Given the description of an element on the screen output the (x, y) to click on. 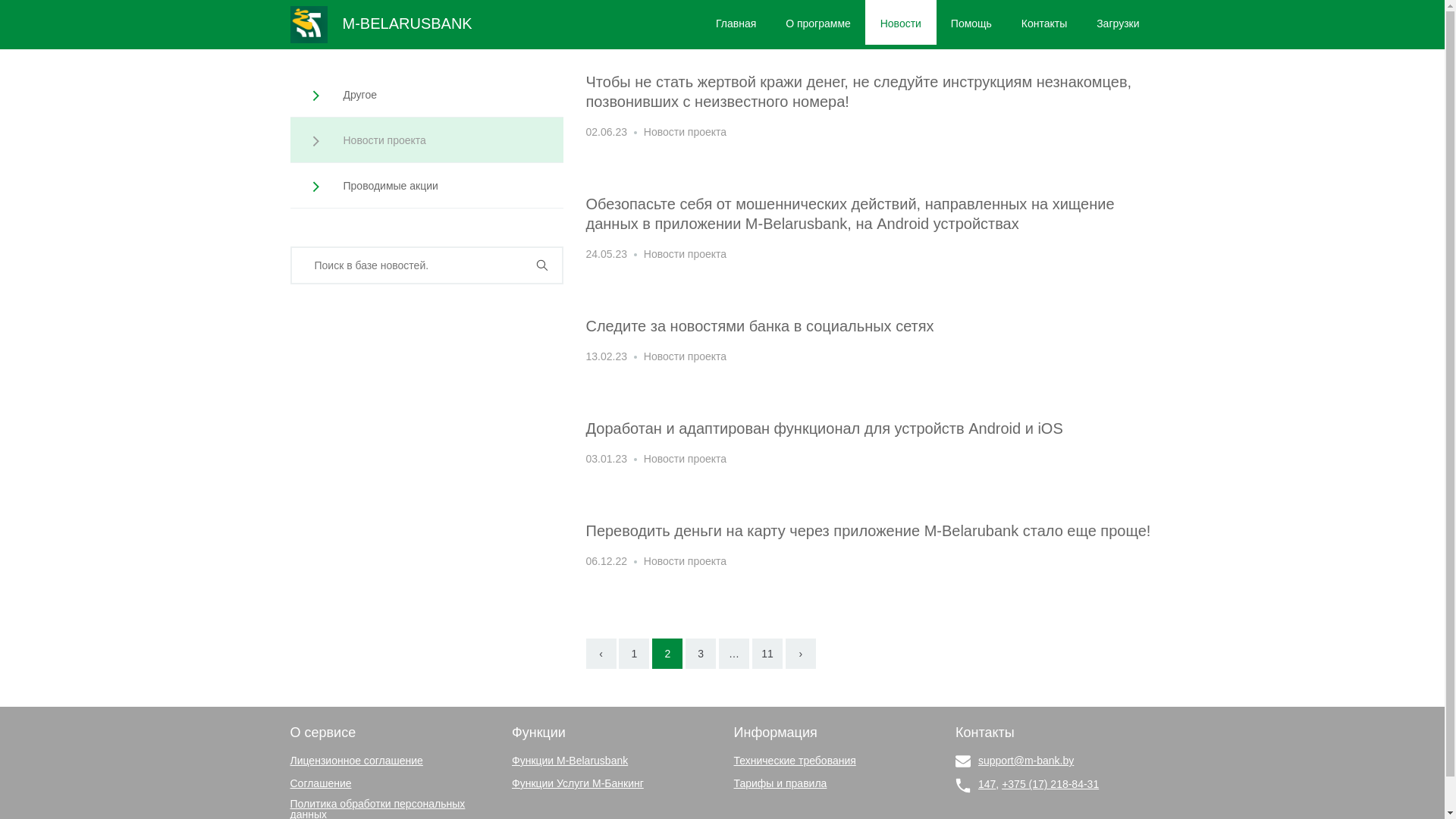
147 Element type: text (986, 783)
+375 (17) 218-84-31 Element type: text (1049, 783)
11 Element type: text (767, 653)
M-BELARUSBANK Element type: text (380, 23)
1 Element type: text (633, 653)
3 Element type: text (700, 653)
support@m-bank.by Element type: text (1025, 760)
